Given the description of an element on the screen output the (x, y) to click on. 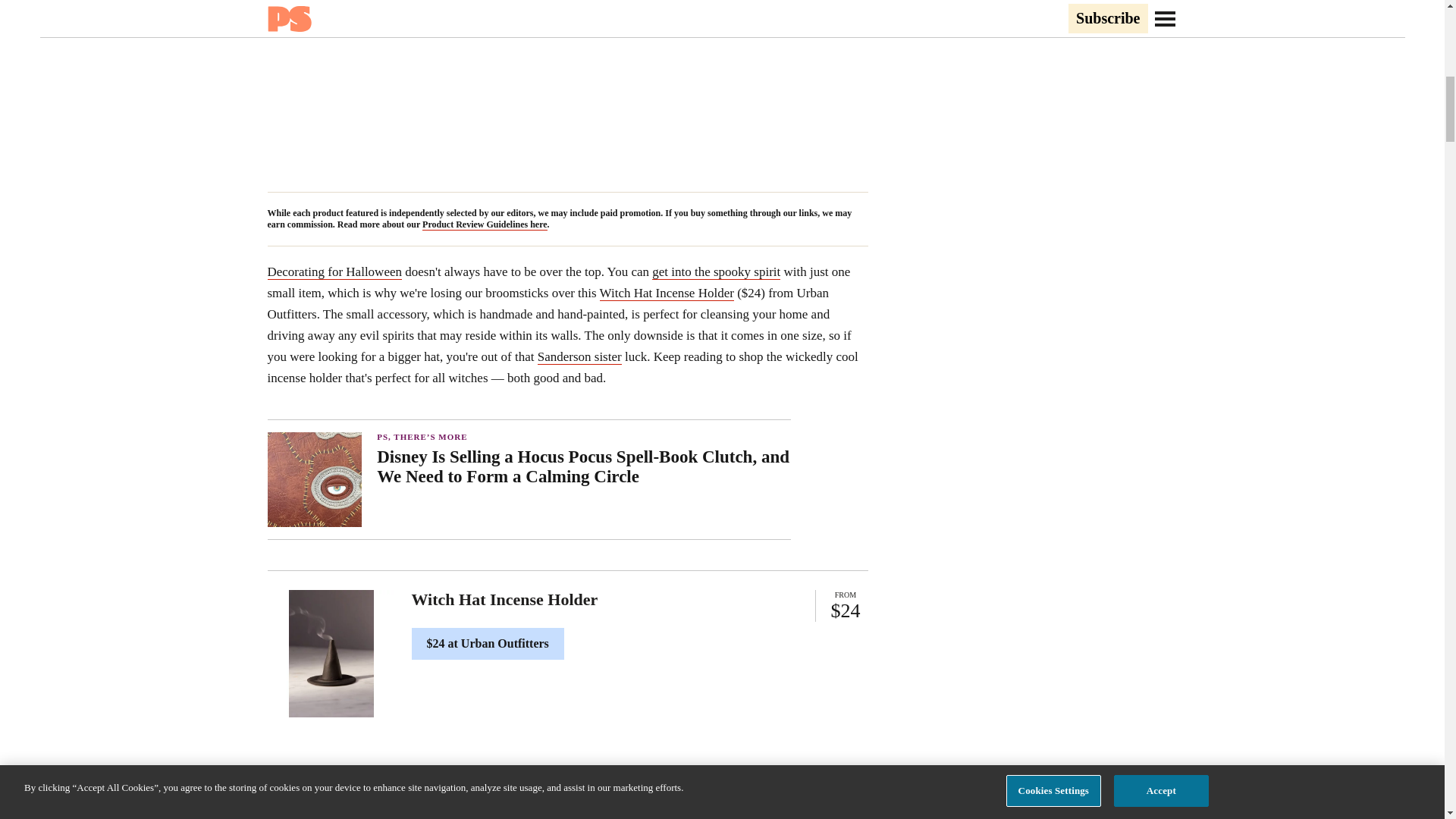
Decorating for Halloween (333, 272)
Witch Hat Incense Holder (666, 293)
Product Review Guidelines here (484, 224)
get into the spooky spirit (716, 272)
Sanderson sister (579, 356)
